Given the description of an element on the screen output the (x, y) to click on. 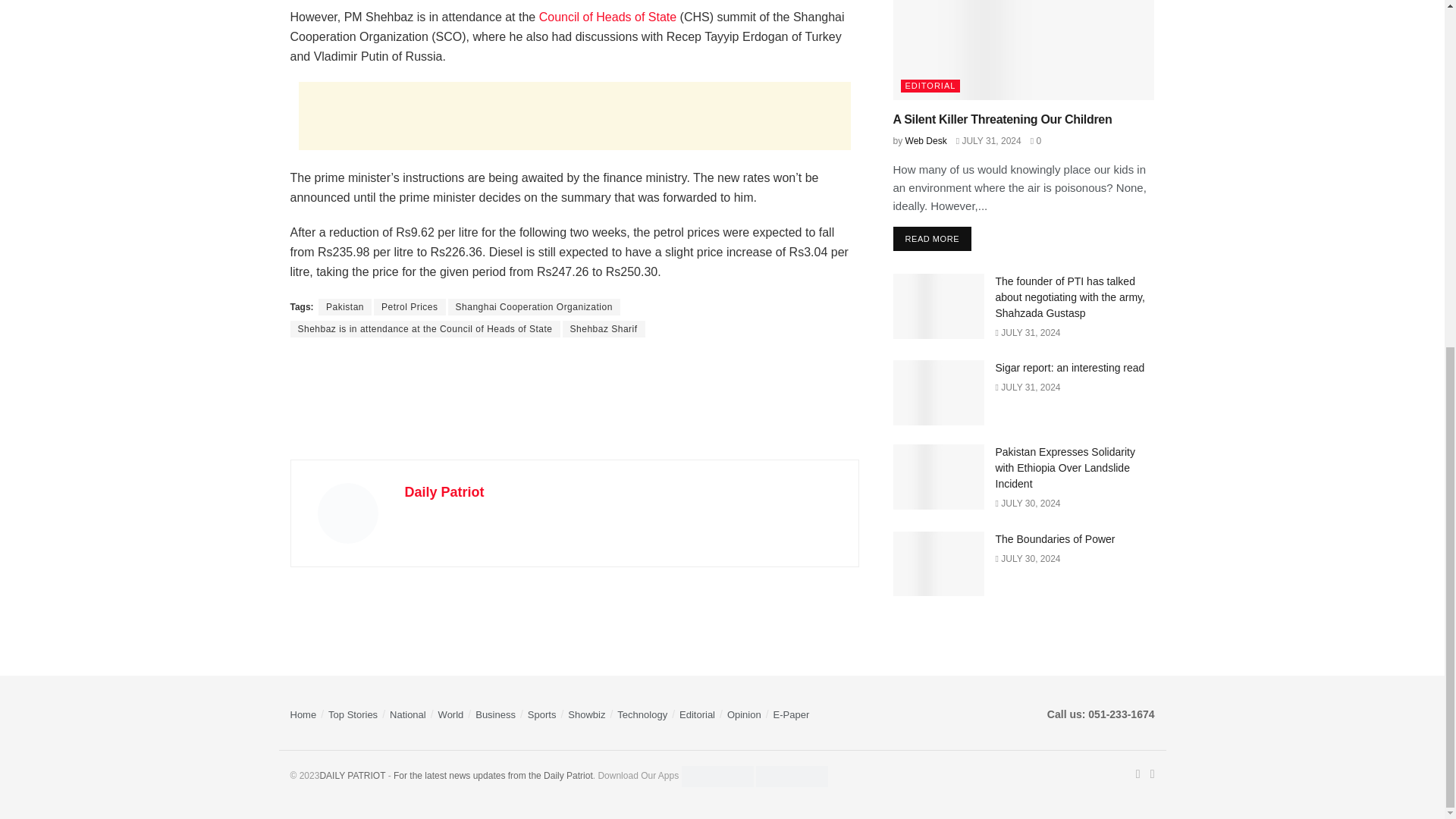
Powered By (351, 775)
